Given the description of an element on the screen output the (x, y) to click on. 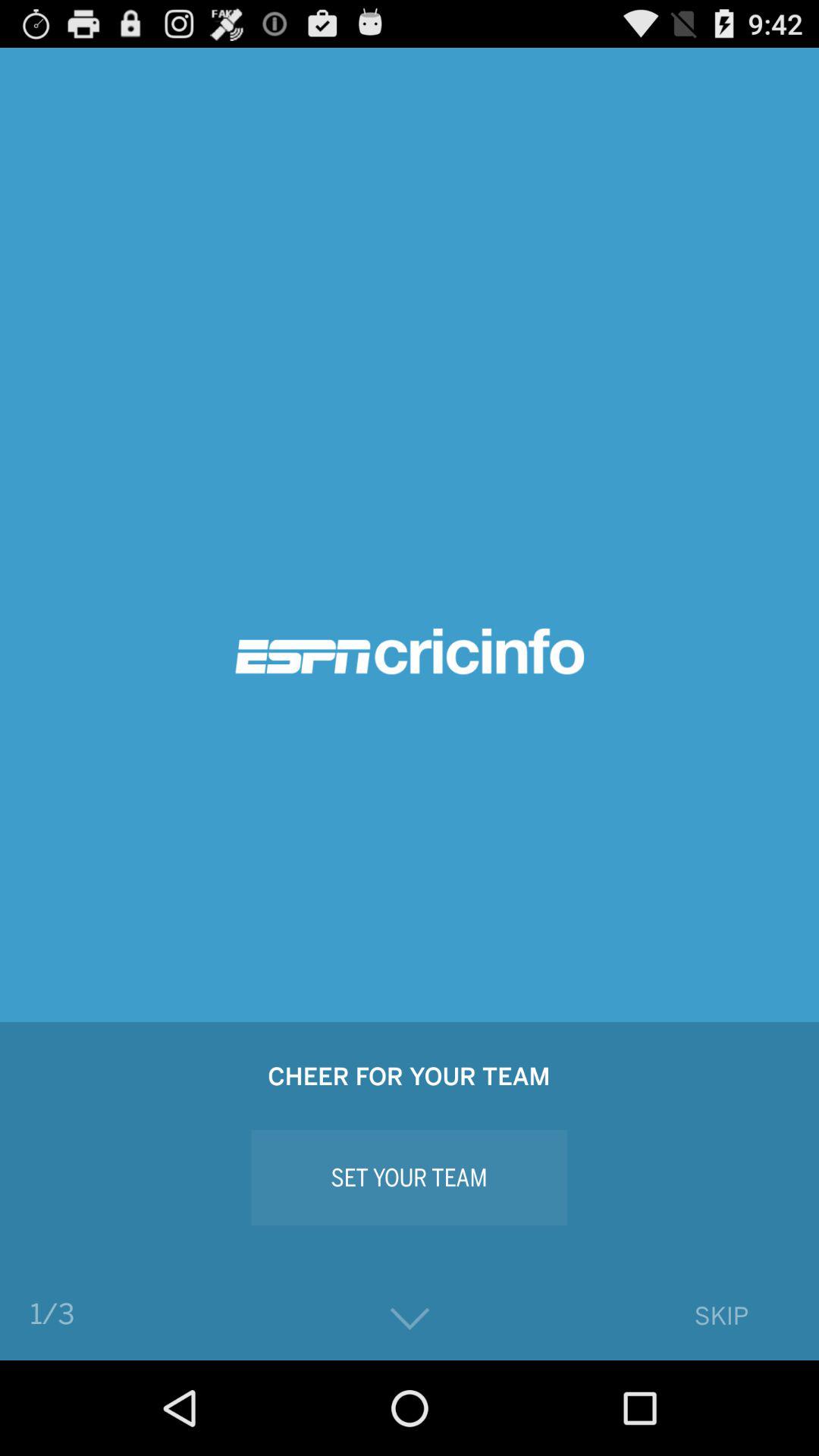
minimize app window (409, 1319)
